Given the description of an element on the screen output the (x, y) to click on. 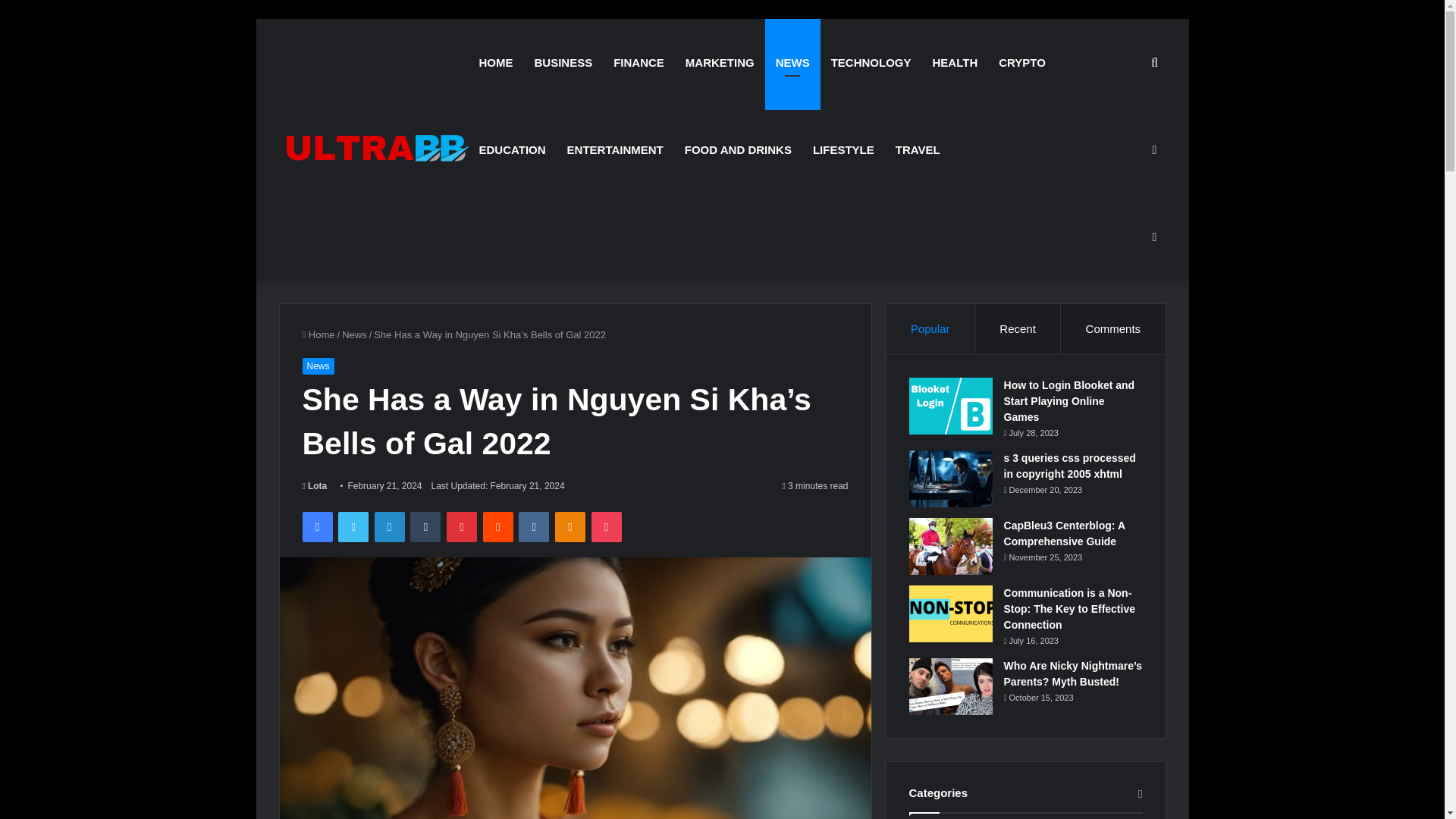
Odnoklassniki (569, 526)
Ultrabb (373, 149)
FOOD AND DRINKS (738, 149)
TECHNOLOGY (871, 62)
Pocket (606, 526)
Reddit (498, 526)
Lota (313, 485)
LinkedIn (389, 526)
News (317, 365)
VKontakte (533, 526)
